Given the description of an element on the screen output the (x, y) to click on. 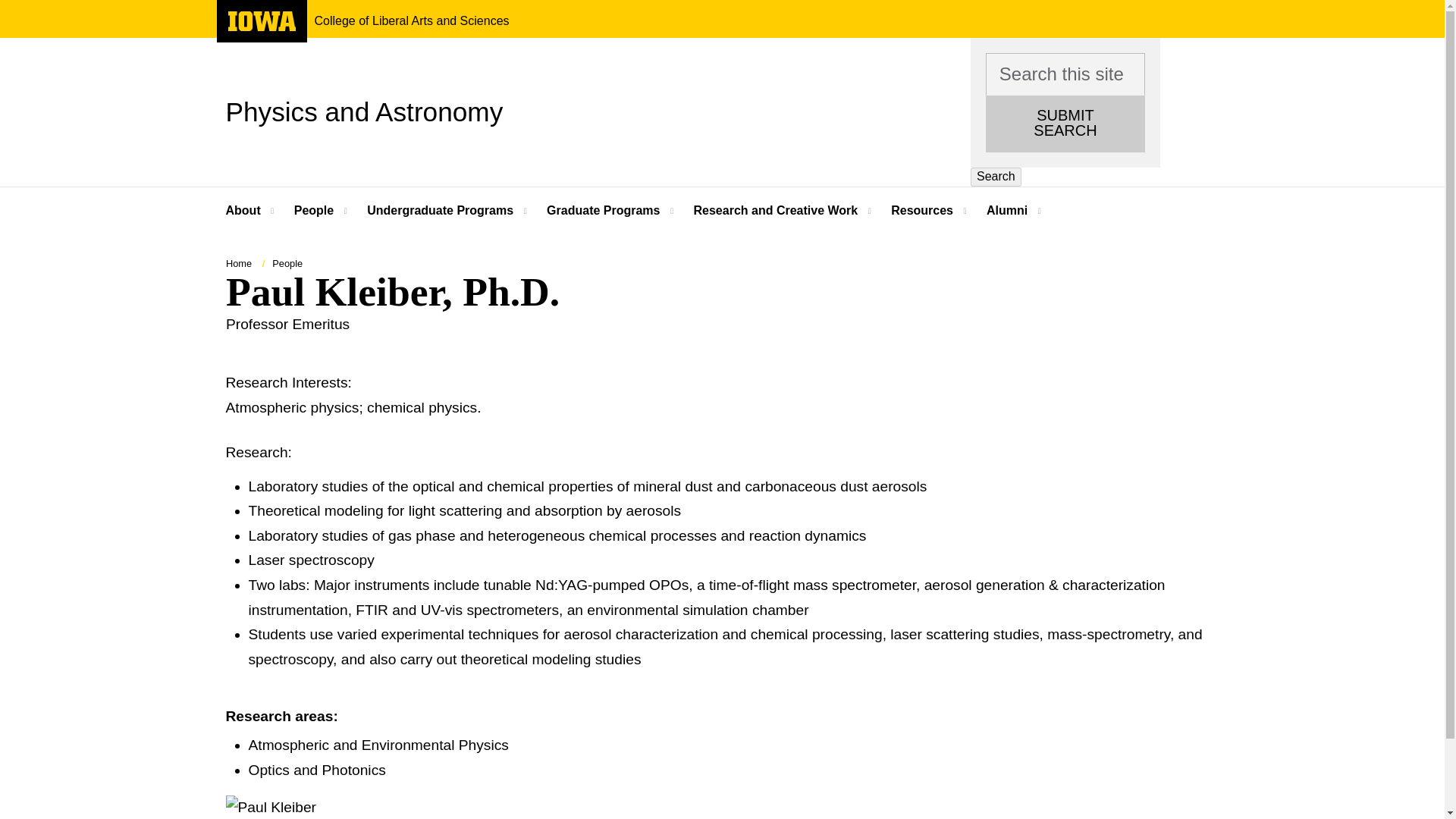
College of Liberal Arts and Sciences (411, 20)
University of Iowa (261, 26)
People (261, 21)
Physics and Astronomy (315, 210)
Search (364, 111)
SUBMIT SEARCH (996, 176)
Skip to main content (1064, 123)
Undergraduate Programs (7, 7)
About (441, 210)
